Given the description of an element on the screen output the (x, y) to click on. 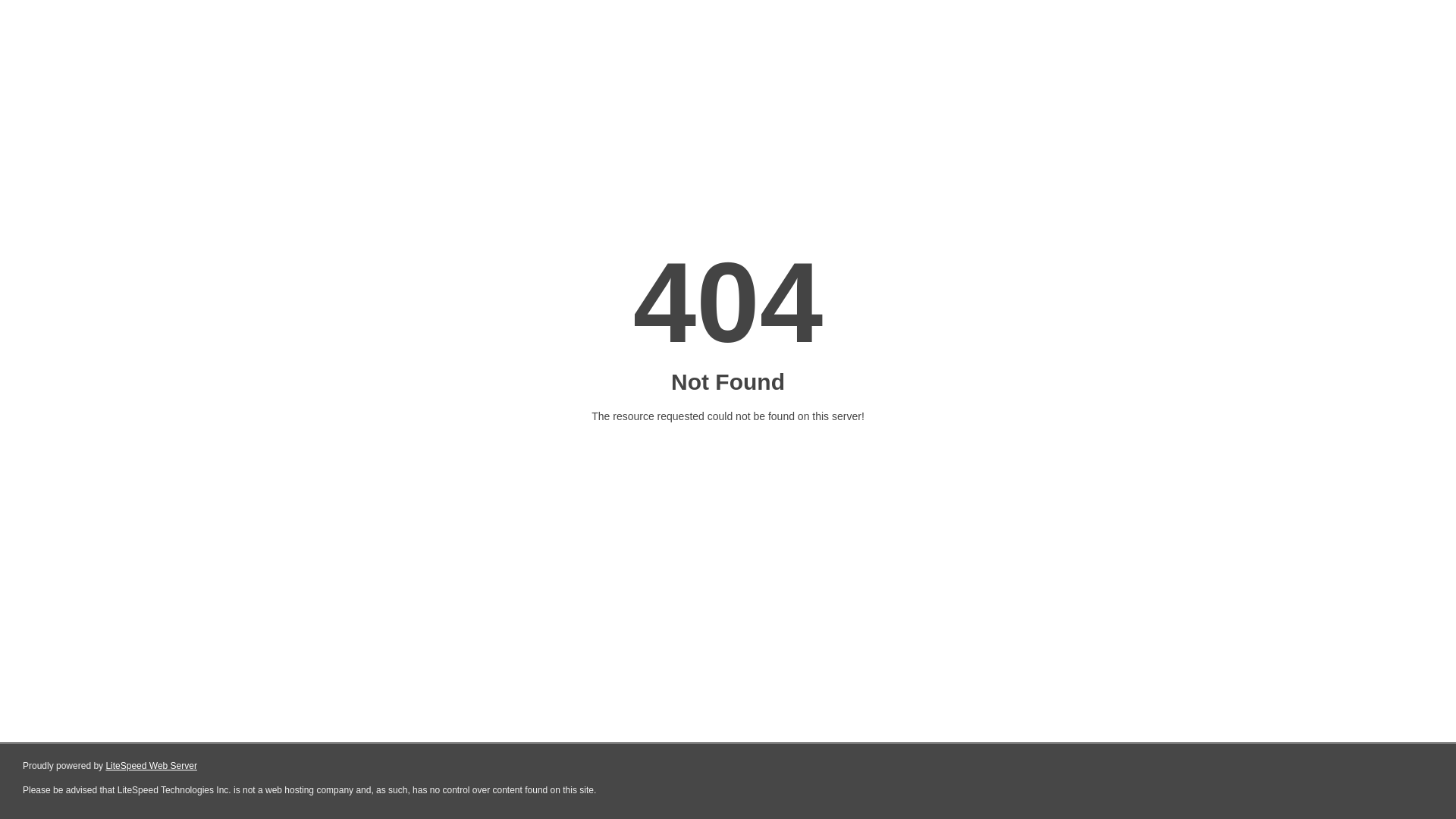
LiteSpeed Web Server Element type: text (151, 765)
